Given the description of an element on the screen output the (x, y) to click on. 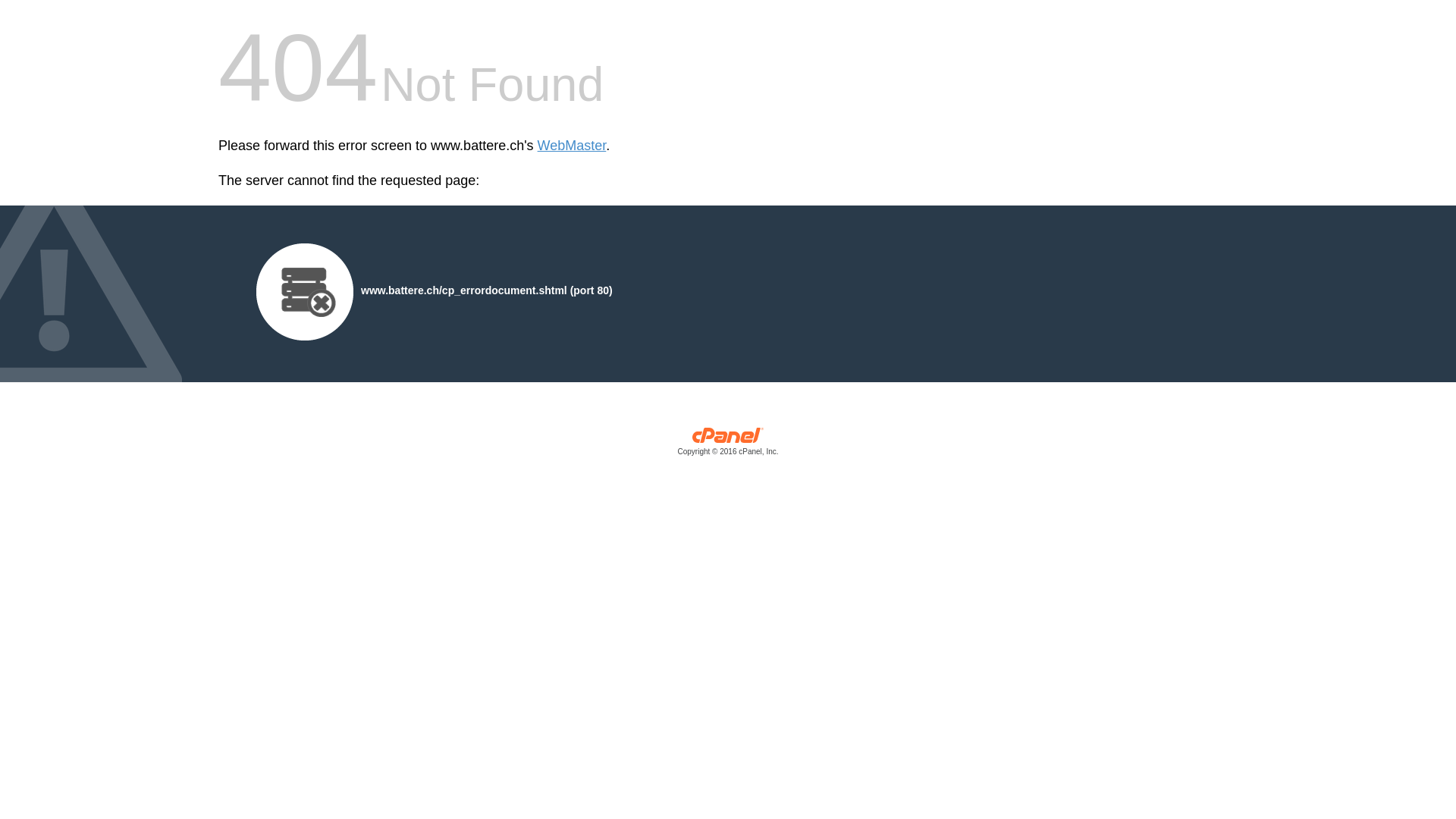
WebMaster Element type: text (571, 145)
